Given the description of an element on the screen output the (x, y) to click on. 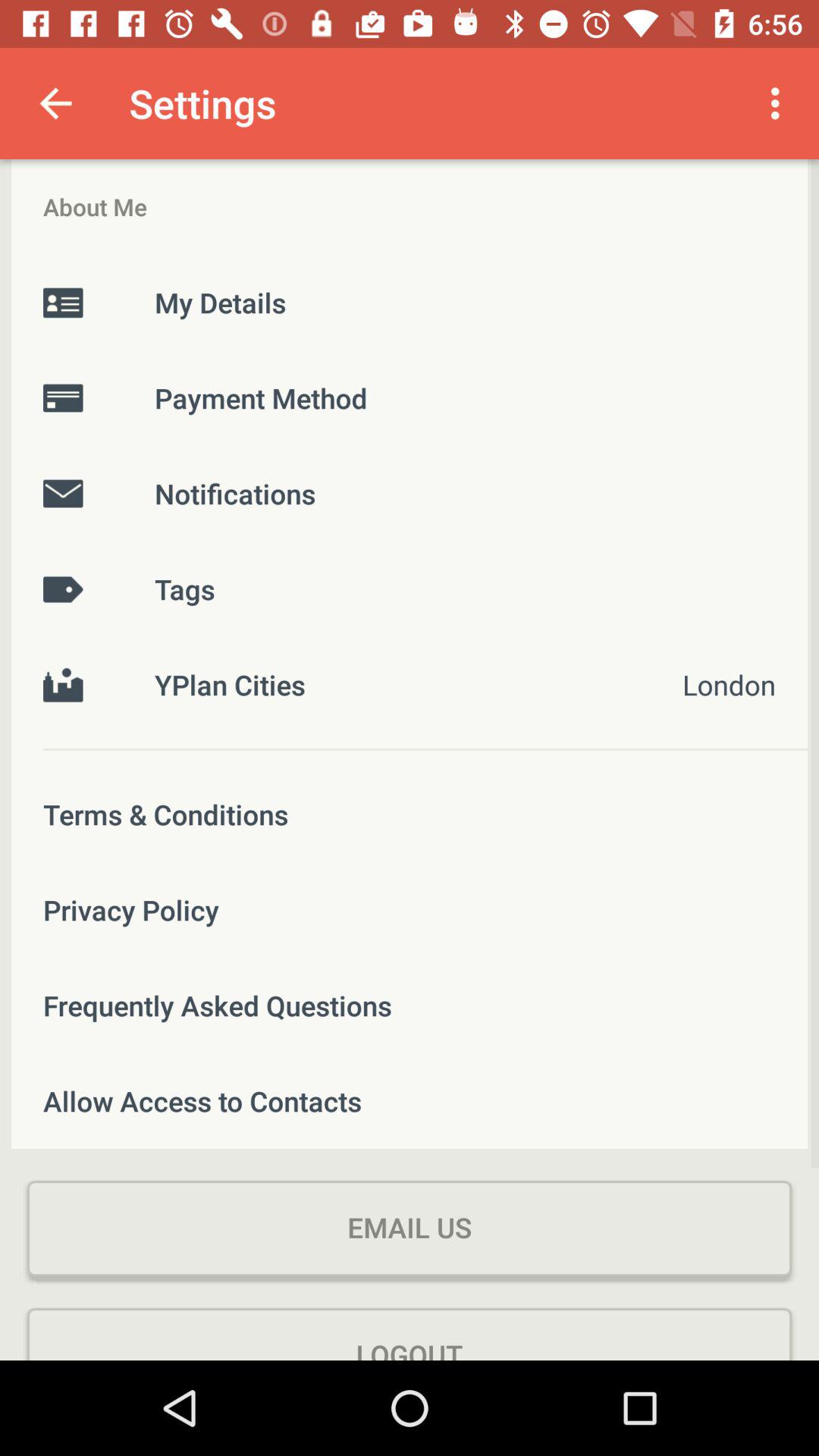
tap the payment method item (409, 397)
